Given the description of an element on the screen output the (x, y) to click on. 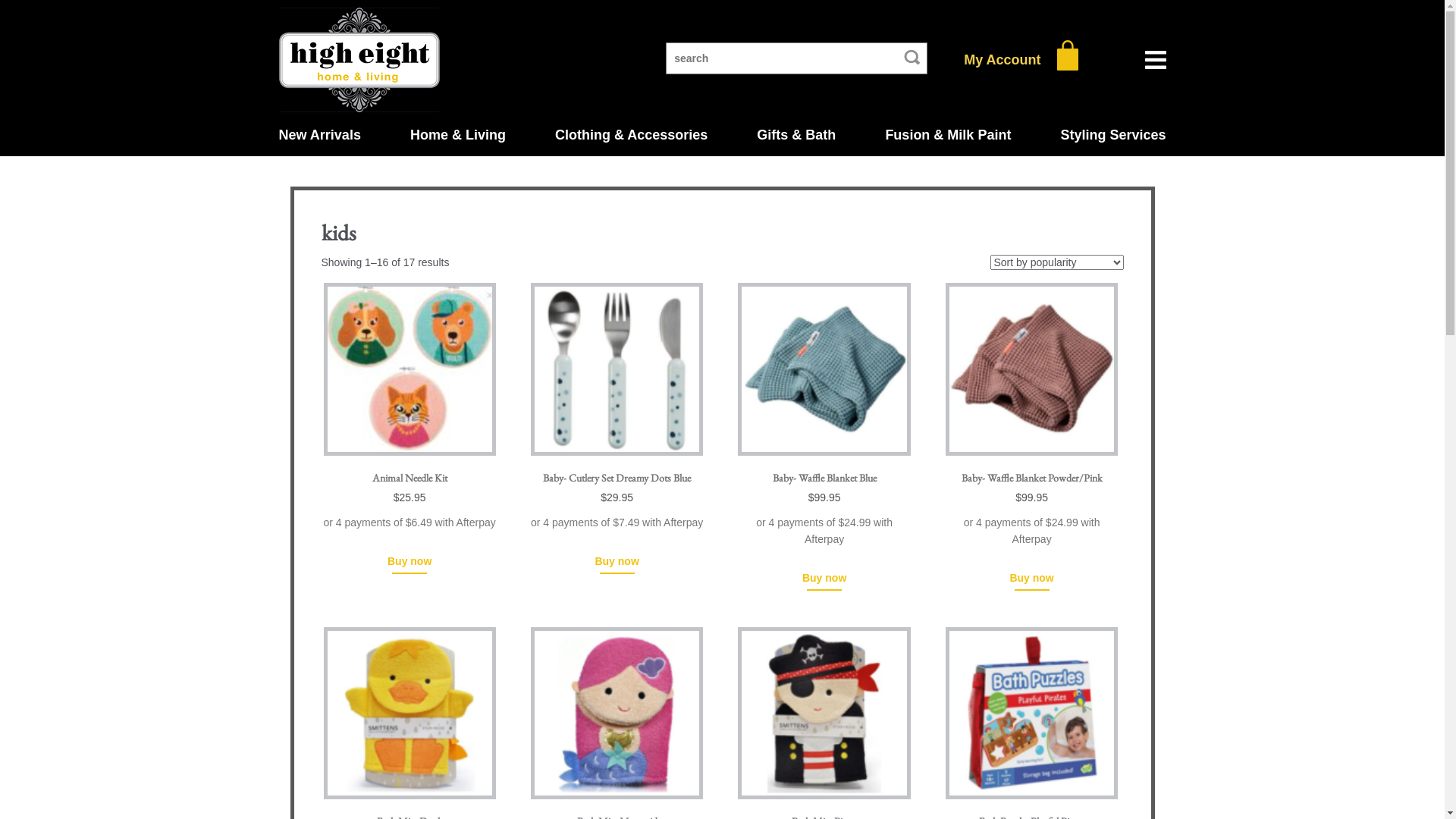
My Account Element type: text (1001, 59)
Gifts & Bath Element type: text (795, 134)
high eight home & living Element type: hover (359, 59)
Styling Services Element type: text (1112, 134)
New Arrivals Element type: text (319, 134)
Clothing & Accessories Element type: text (631, 134)
Buy now Element type: text (409, 561)
Home & Living Element type: text (457, 134)
Buy now Element type: text (823, 578)
Buy now Element type: text (1030, 578)
Buy now Element type: text (616, 561)
  Element type: text (1067, 59)
Search for: Element type: hover (796, 58)
Fusion & Milk Paint Element type: text (947, 134)
